Given the description of an element on the screen output the (x, y) to click on. 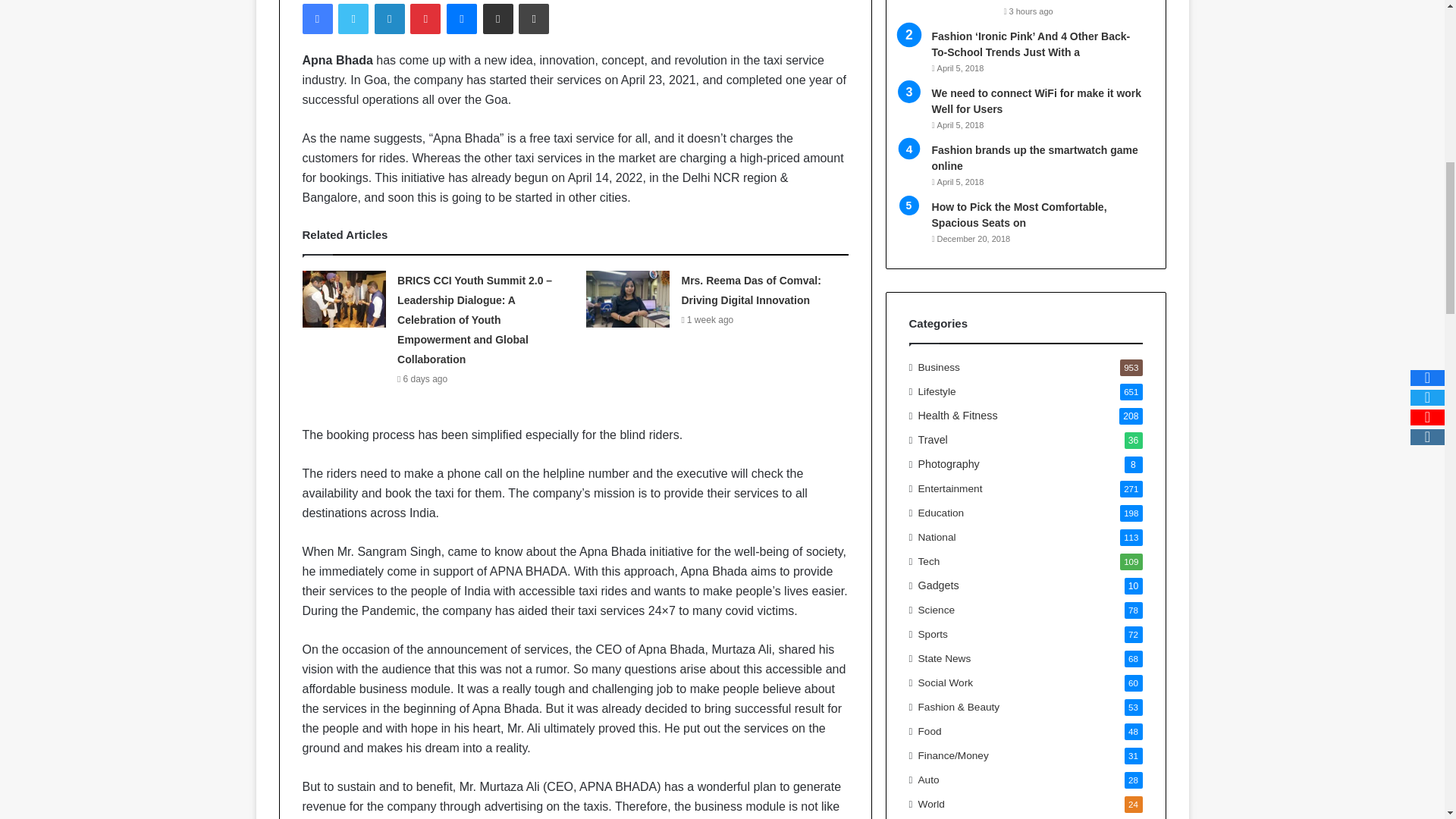
Twitter (352, 19)
Messenger (461, 19)
Pinterest (425, 19)
Facebook (316, 19)
Print (533, 19)
Share via Email (498, 19)
LinkedIn (389, 19)
